Given the description of an element on the screen output the (x, y) to click on. 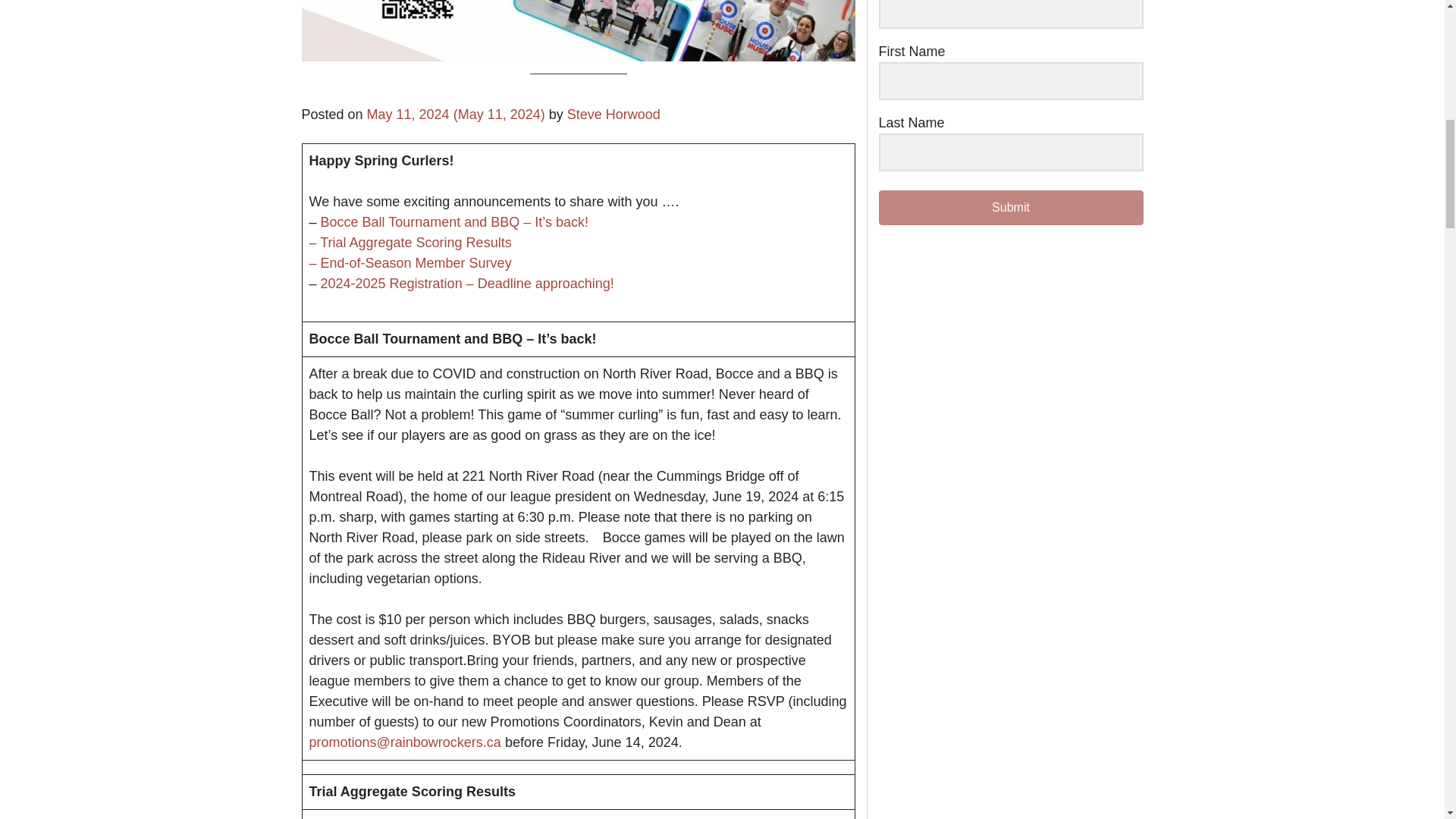
Steve Horwood (614, 114)
